Given the description of an element on the screen output the (x, y) to click on. 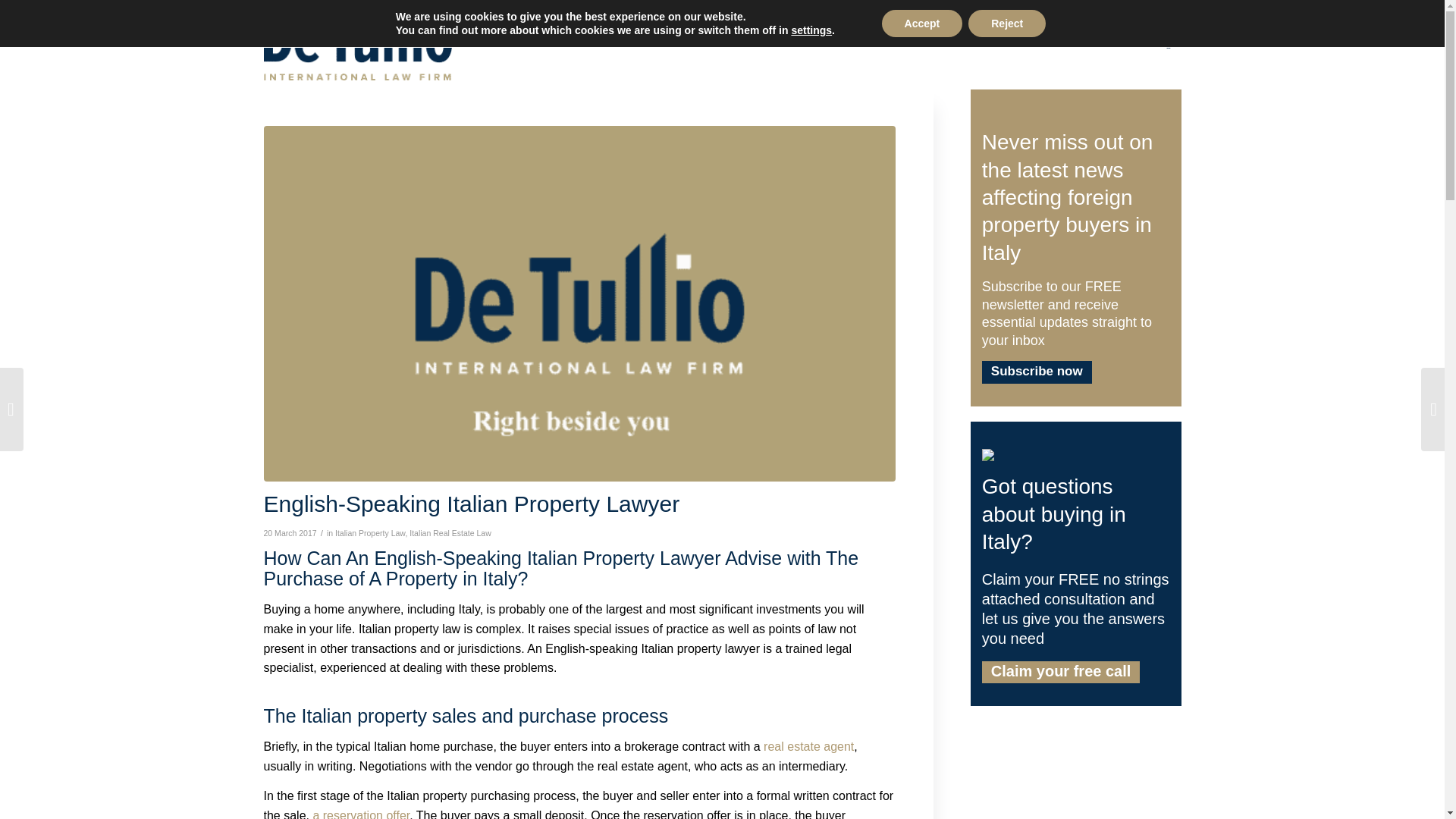
Italian Real Estate Law (450, 532)
real estate agent (807, 746)
De Tullio Header Logo (357, 40)
a reservation offer (361, 814)
Italian Property Law (369, 532)
CONTACT US (1047, 44)
OUR SERVICES (909, 44)
